Given the description of an element on the screen output the (x, y) to click on. 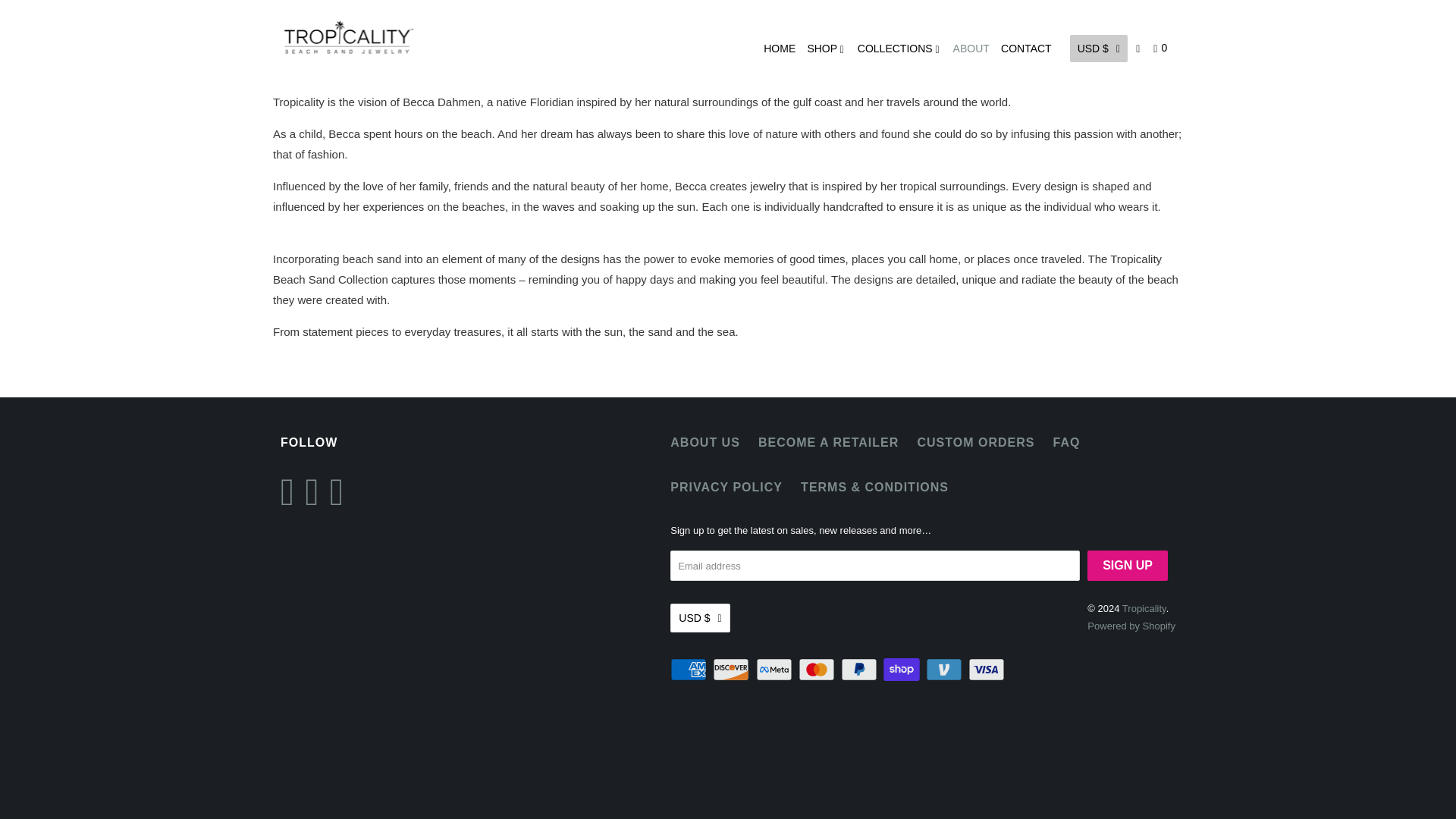
Discover (732, 669)
Mastercard (817, 669)
PayPal (860, 669)
Venmo (945, 669)
Visa (987, 669)
Shop Pay (903, 669)
Tropicality (348, 37)
American Express (689, 669)
Meta Pay (774, 669)
Sign Up (1127, 565)
